Given the description of an element on the screen output the (x, y) to click on. 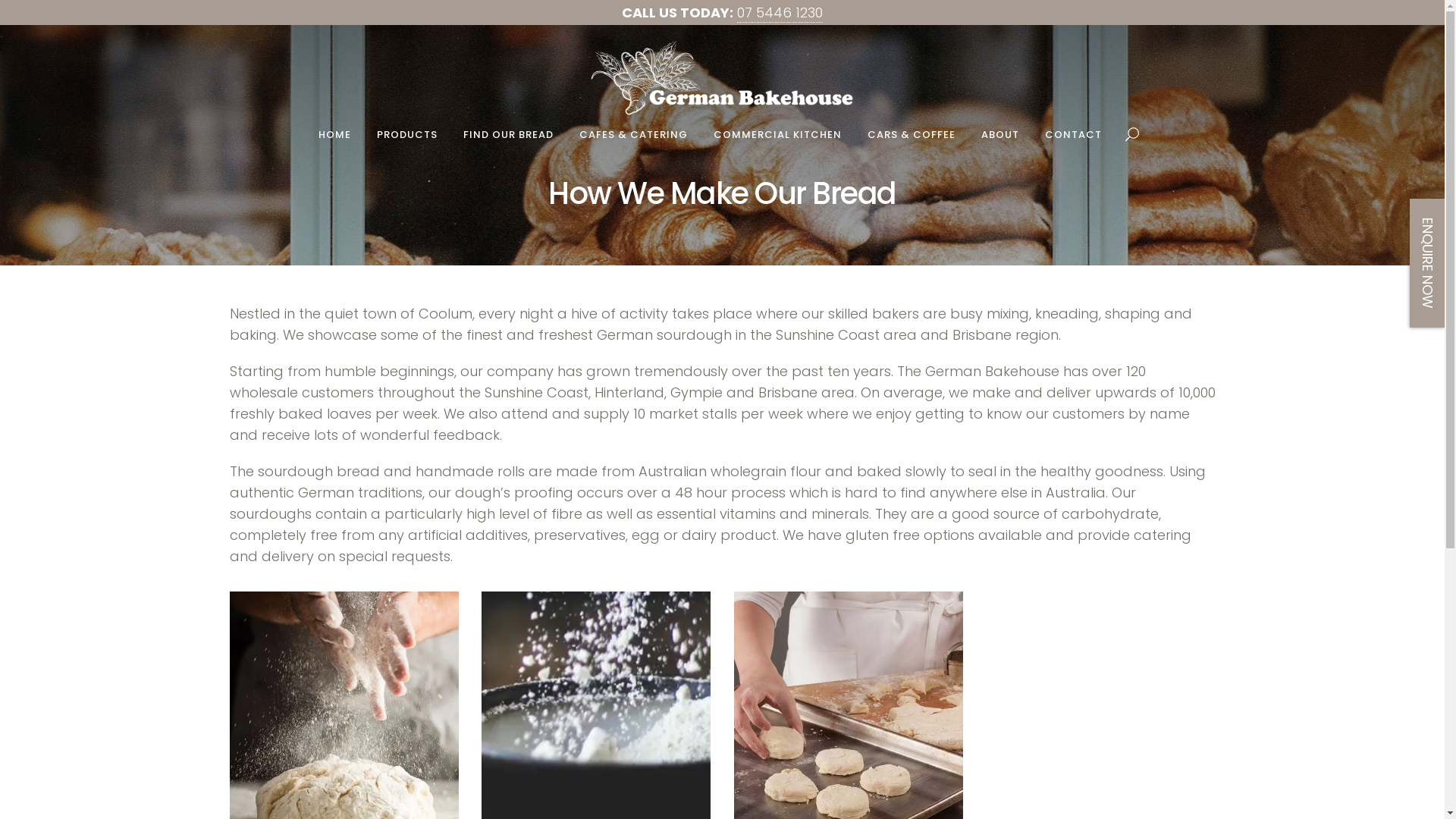
COMMERCIAL KITCHEN Element type: text (777, 134)
FIND OUR BREAD Element type: text (508, 134)
PRODUCTS Element type: text (407, 134)
CAFES & CATERING Element type: text (632, 134)
CARS & COFFEE Element type: text (910, 134)
07 5446 1230 Element type: text (779, 12)
HOME Element type: text (333, 134)
ABOUT Element type: text (999, 134)
CONTACT Element type: text (1072, 134)
